Given the description of an element on the screen output the (x, y) to click on. 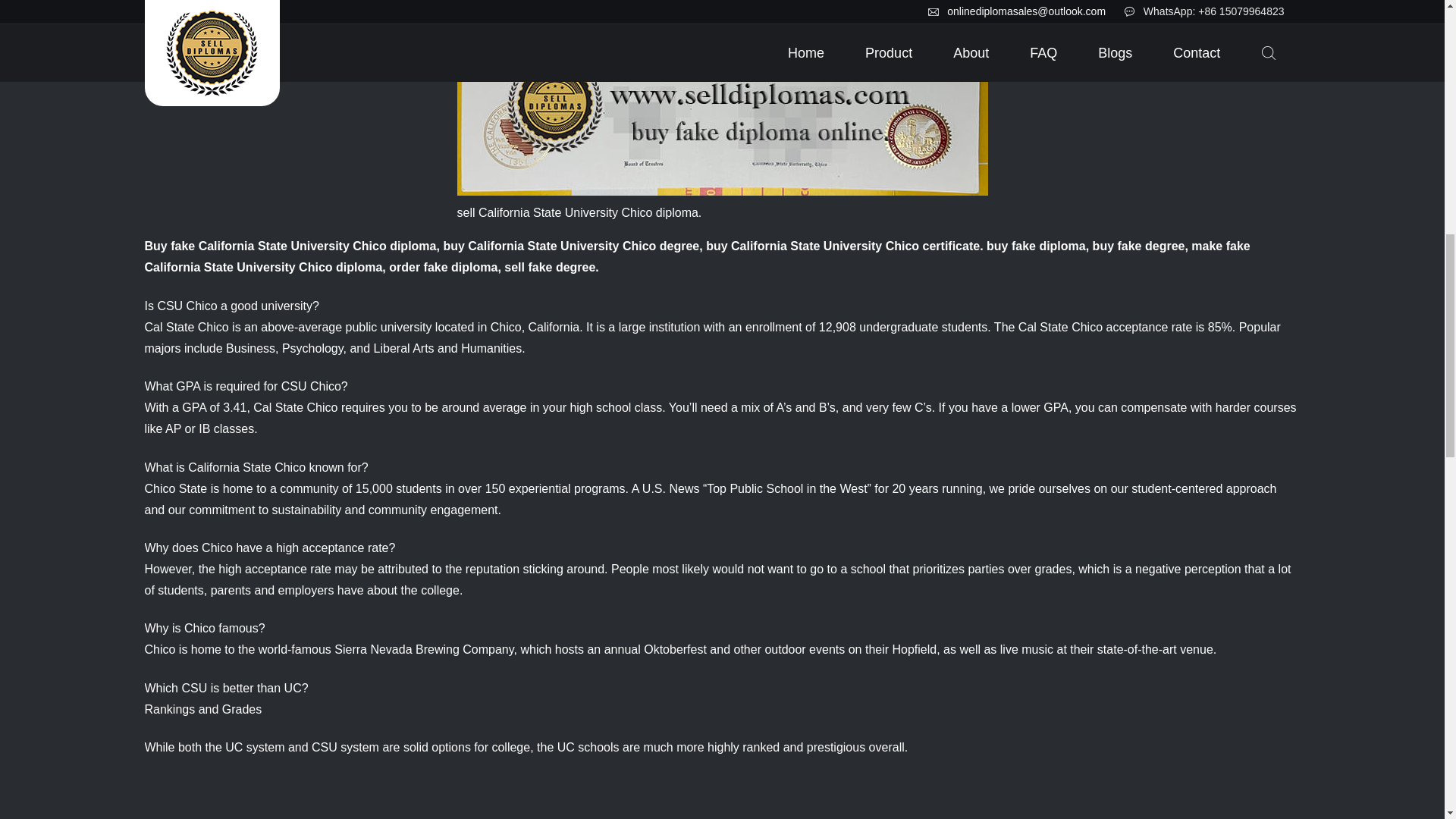
YouTube video player (257, 797)
Cal State Chico (186, 327)
sell fake degree. (550, 267)
